Given the description of an element on the screen output the (x, y) to click on. 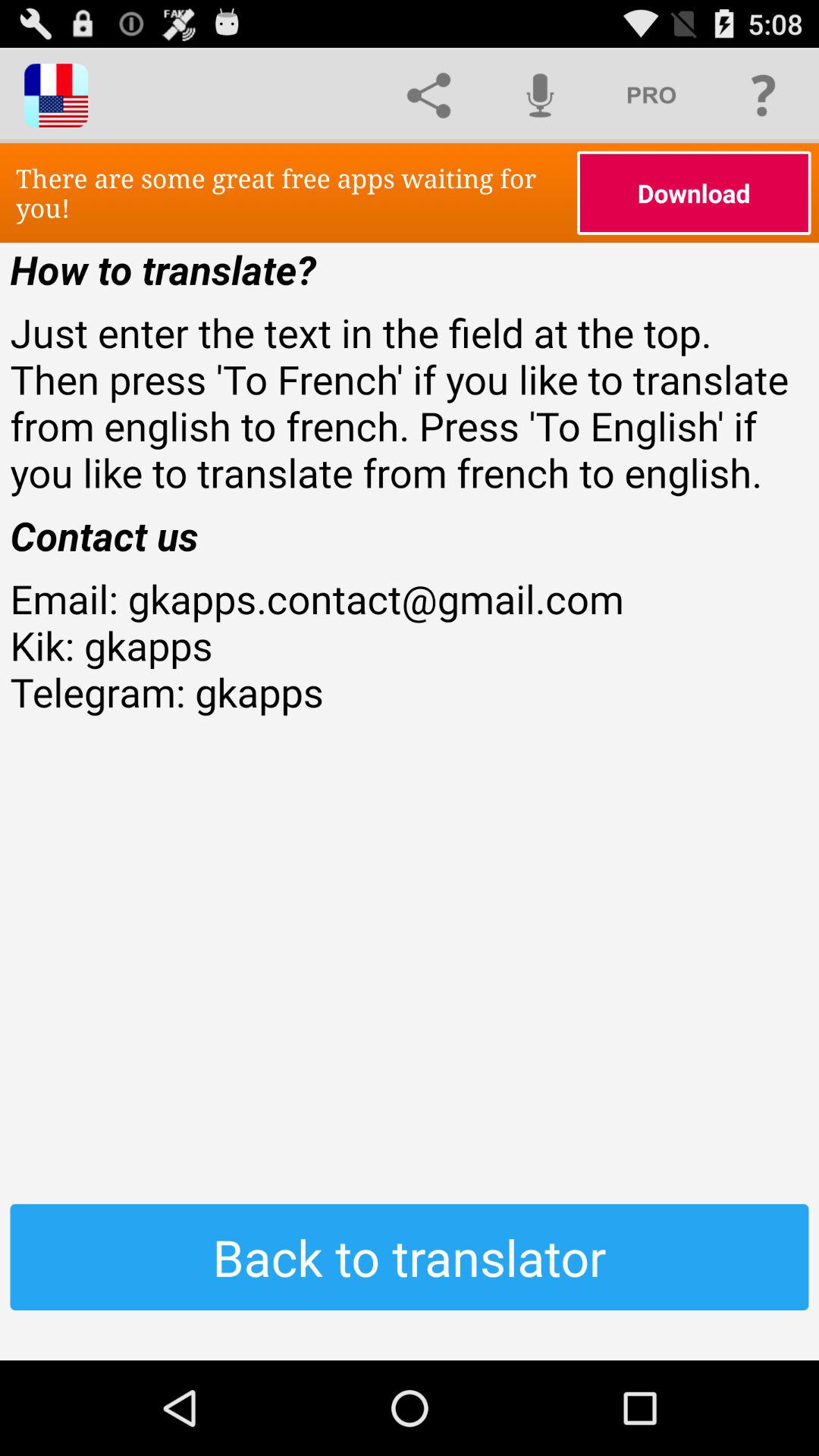
flip until back to translator button (409, 1257)
